Given the description of an element on the screen output the (x, y) to click on. 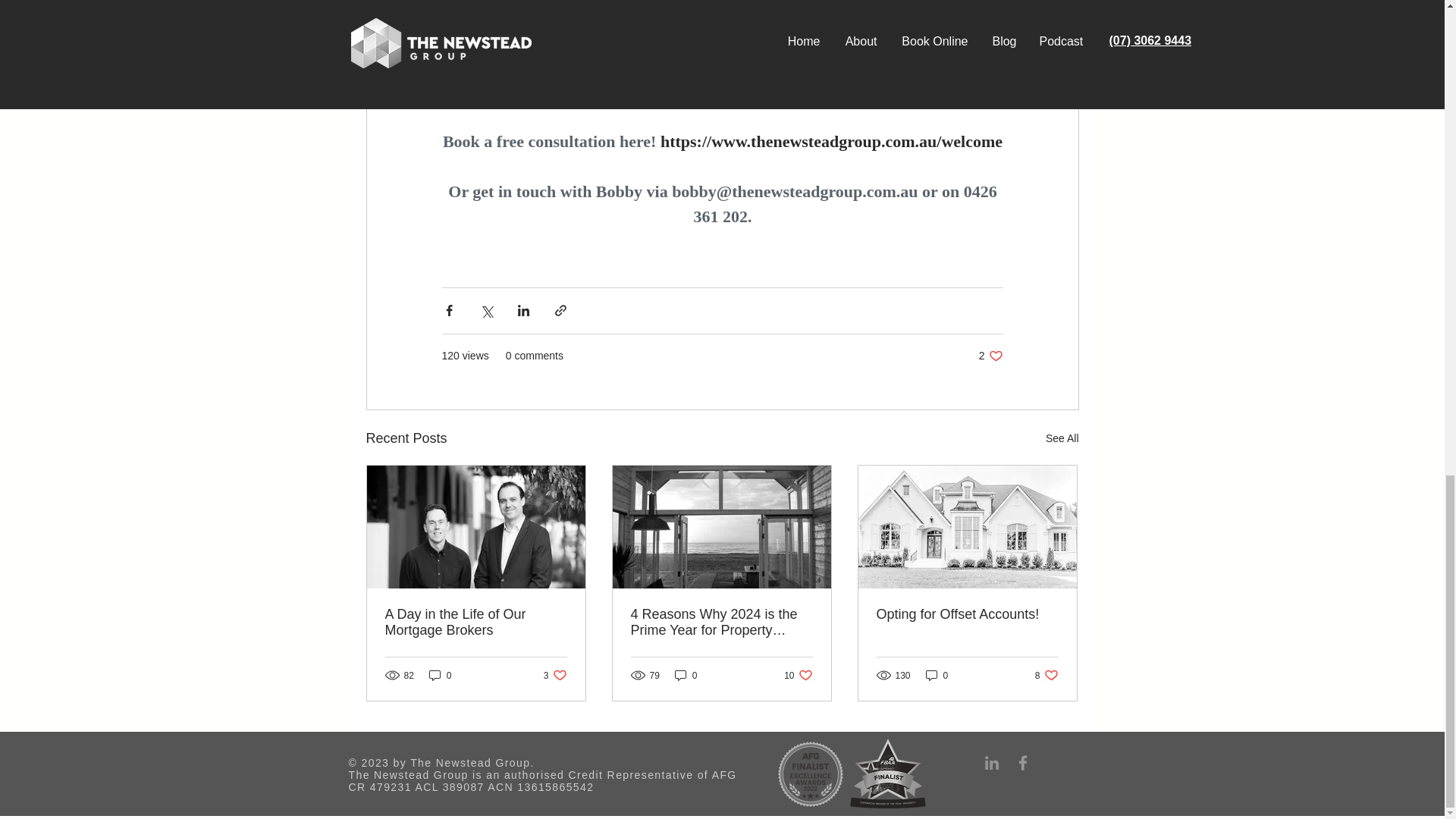
0 (937, 675)
A Day in the Life of Our Mortgage Brokers (476, 622)
0 (440, 675)
0 (685, 675)
Opting for Offset Accounts! (967, 614)
See All (555, 675)
